Given the description of an element on the screen output the (x, y) to click on. 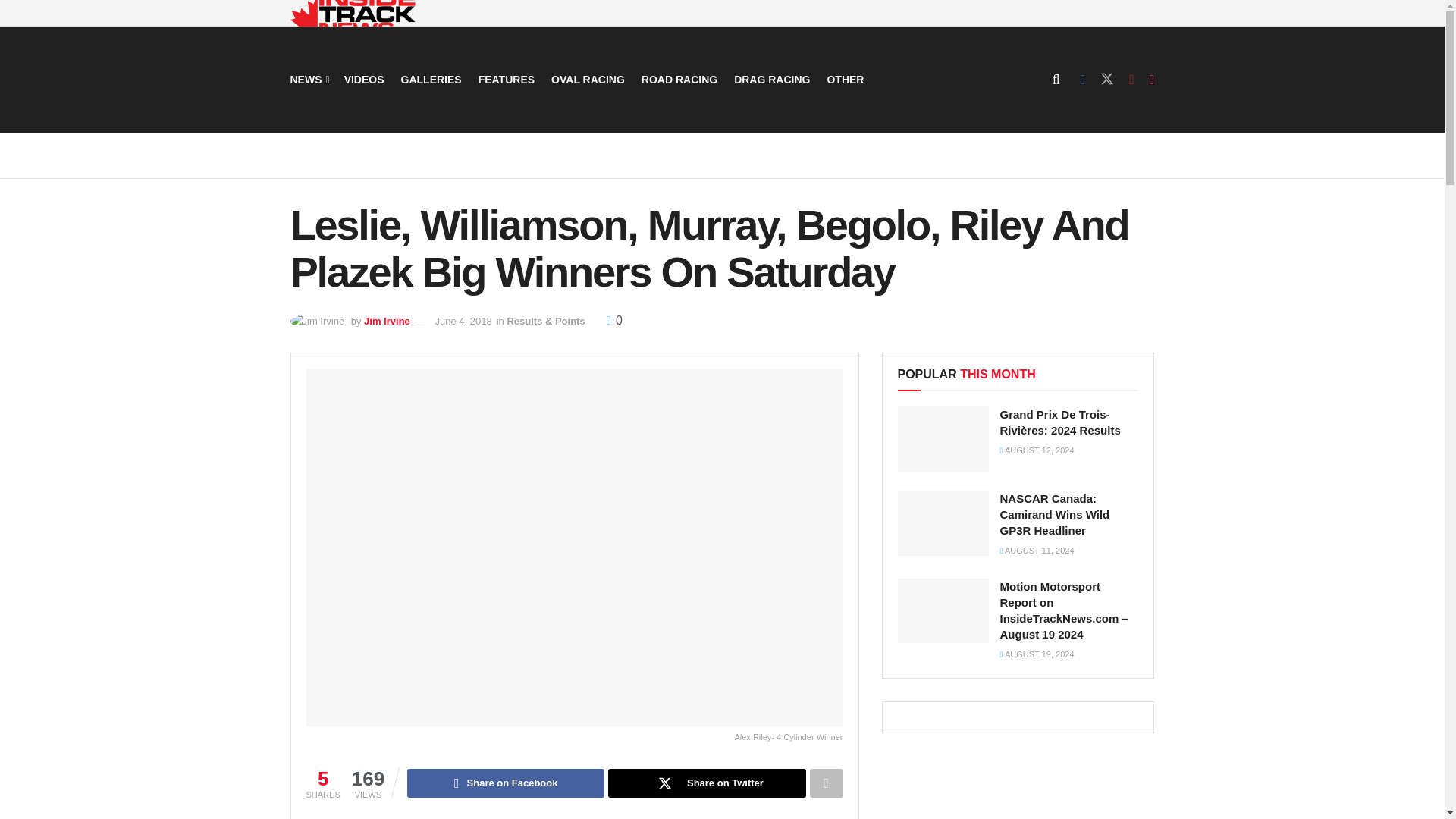
FEATURES (506, 79)
VIDEOS (363, 79)
OVAL RACING (587, 79)
OTHER (845, 79)
ROAD RACING (679, 79)
DRAG RACING (771, 79)
GALLERIES (431, 79)
NEWS (307, 79)
